Given the description of an element on the screen output the (x, y) to click on. 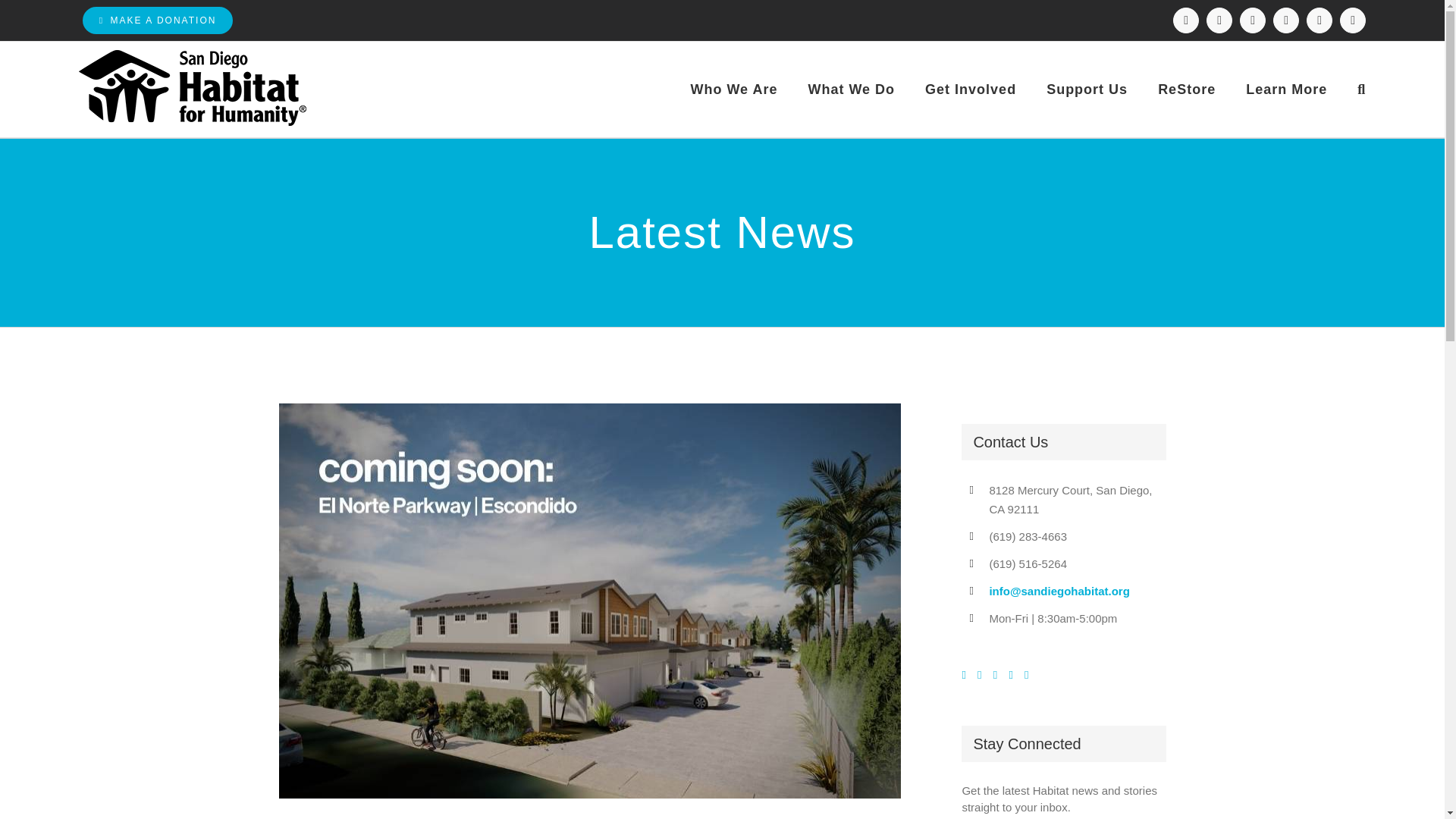
Get Involved (970, 89)
Instagram (1219, 20)
LinkedIn (1285, 20)
Facebook (1185, 20)
X (1252, 20)
Who We Are (733, 89)
What We Do (851, 89)
Email (1352, 20)
YouTube (1319, 20)
MAKE A DONATION (157, 20)
